Given the description of an element on the screen output the (x, y) to click on. 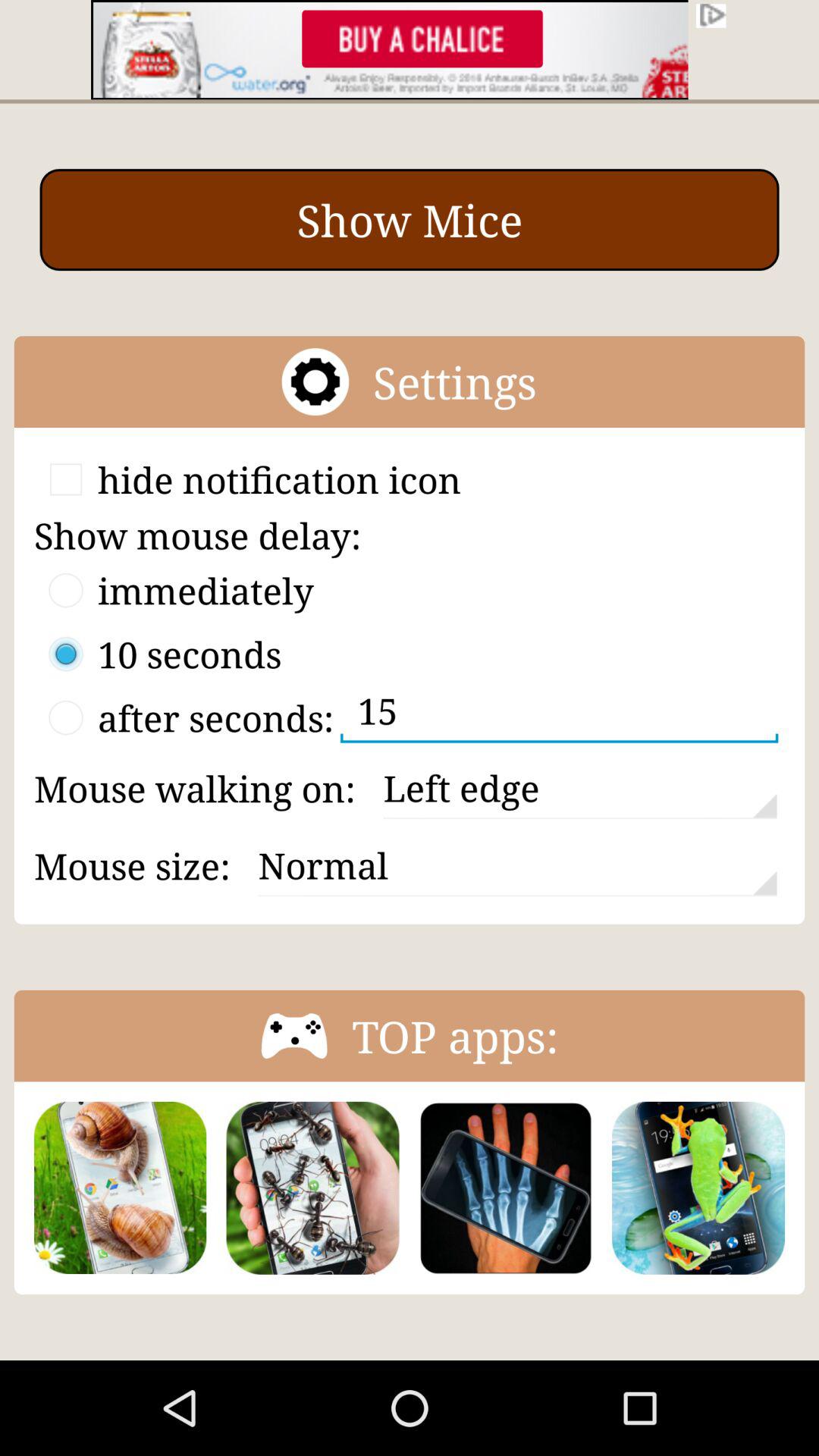
click to the app (505, 1187)
